Given the description of an element on the screen output the (x, y) to click on. 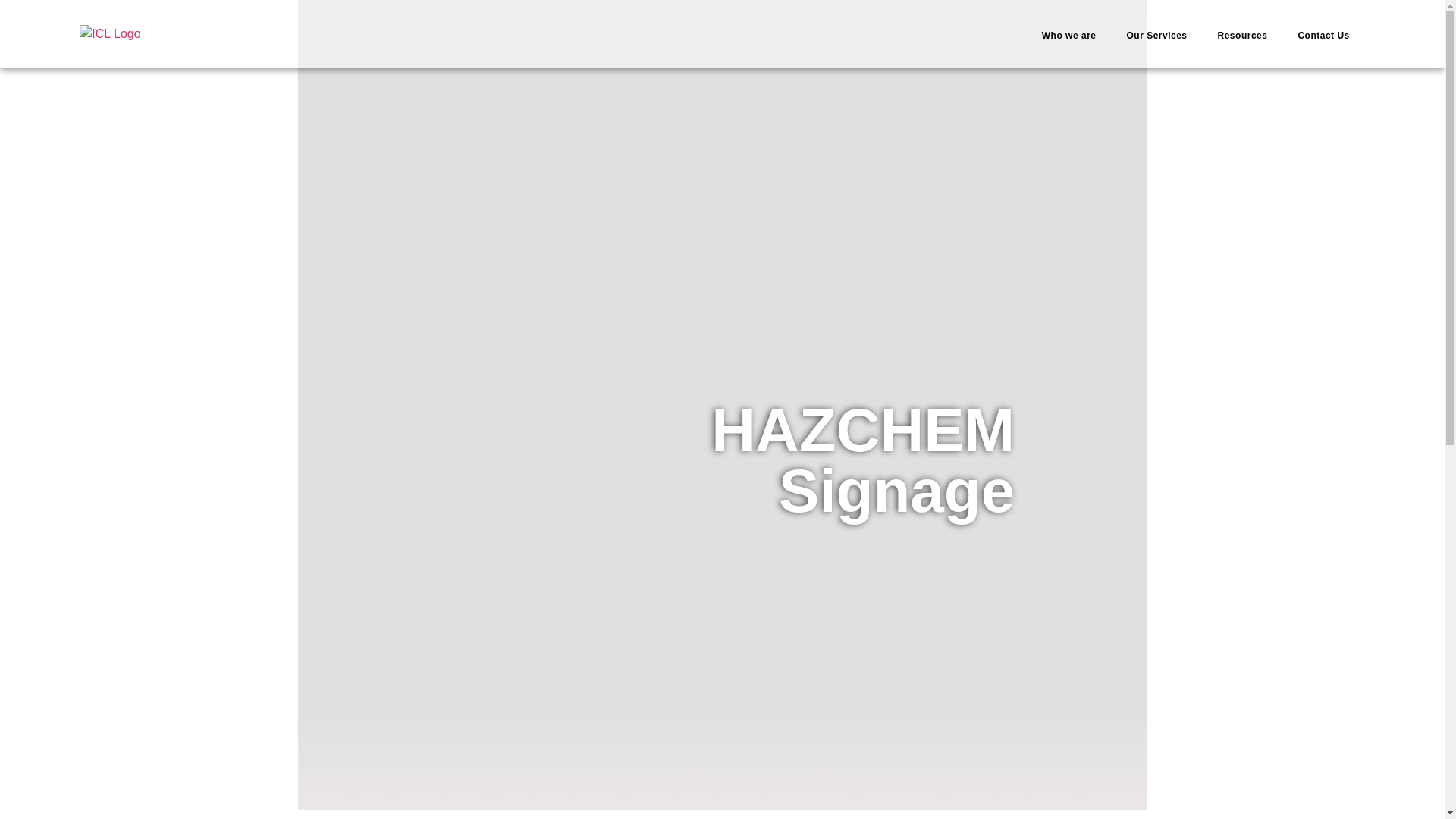
Resources (1242, 35)
Our Services (1156, 35)
Who we are (1069, 35)
ICL Logo (109, 34)
Contact Us (1323, 35)
